Given the description of an element on the screen output the (x, y) to click on. 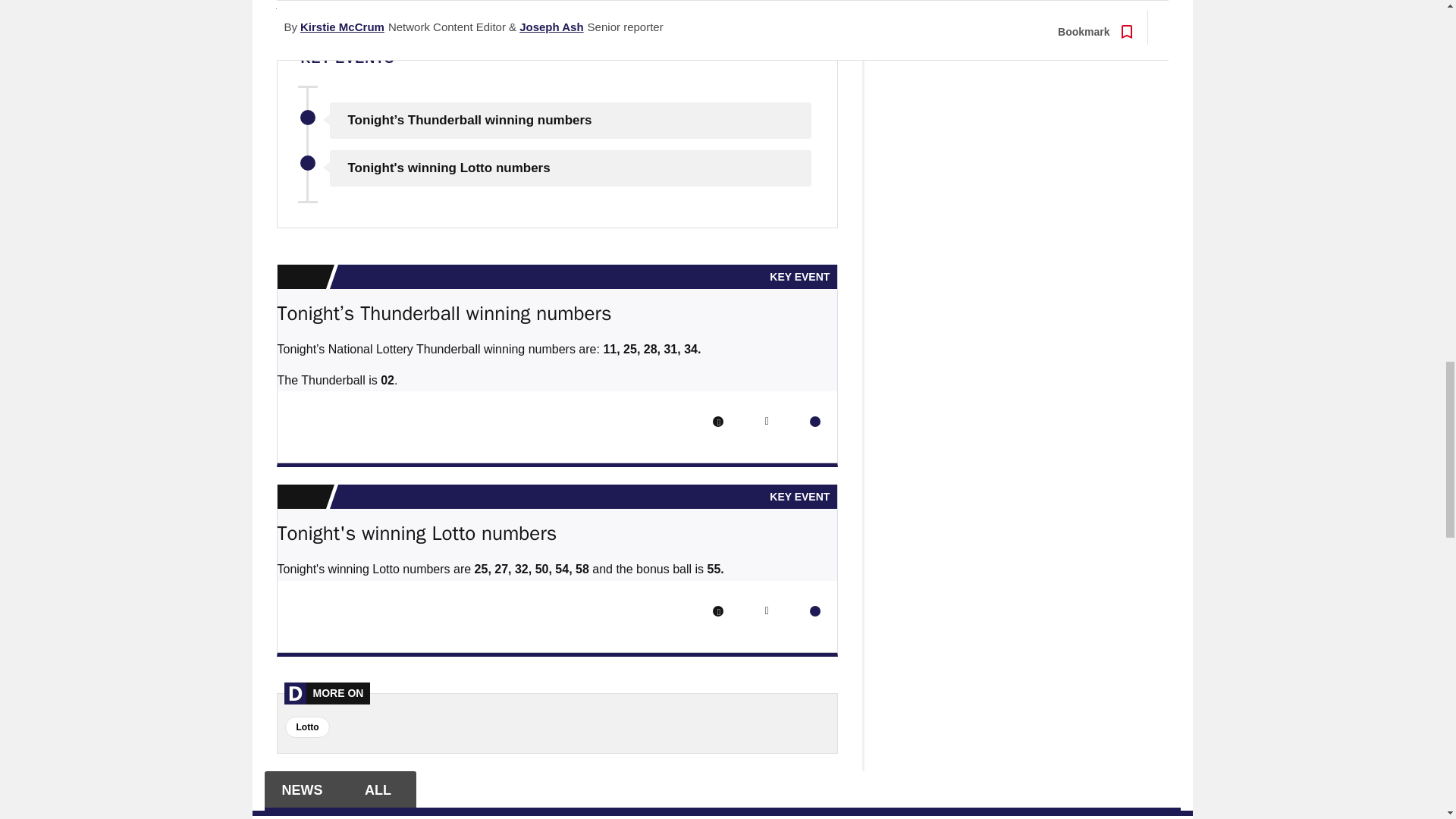
Facebook (718, 421)
Facebook (718, 611)
Twitter (766, 611)
Twitter (766, 421)
